Given the description of an element on the screen output the (x, y) to click on. 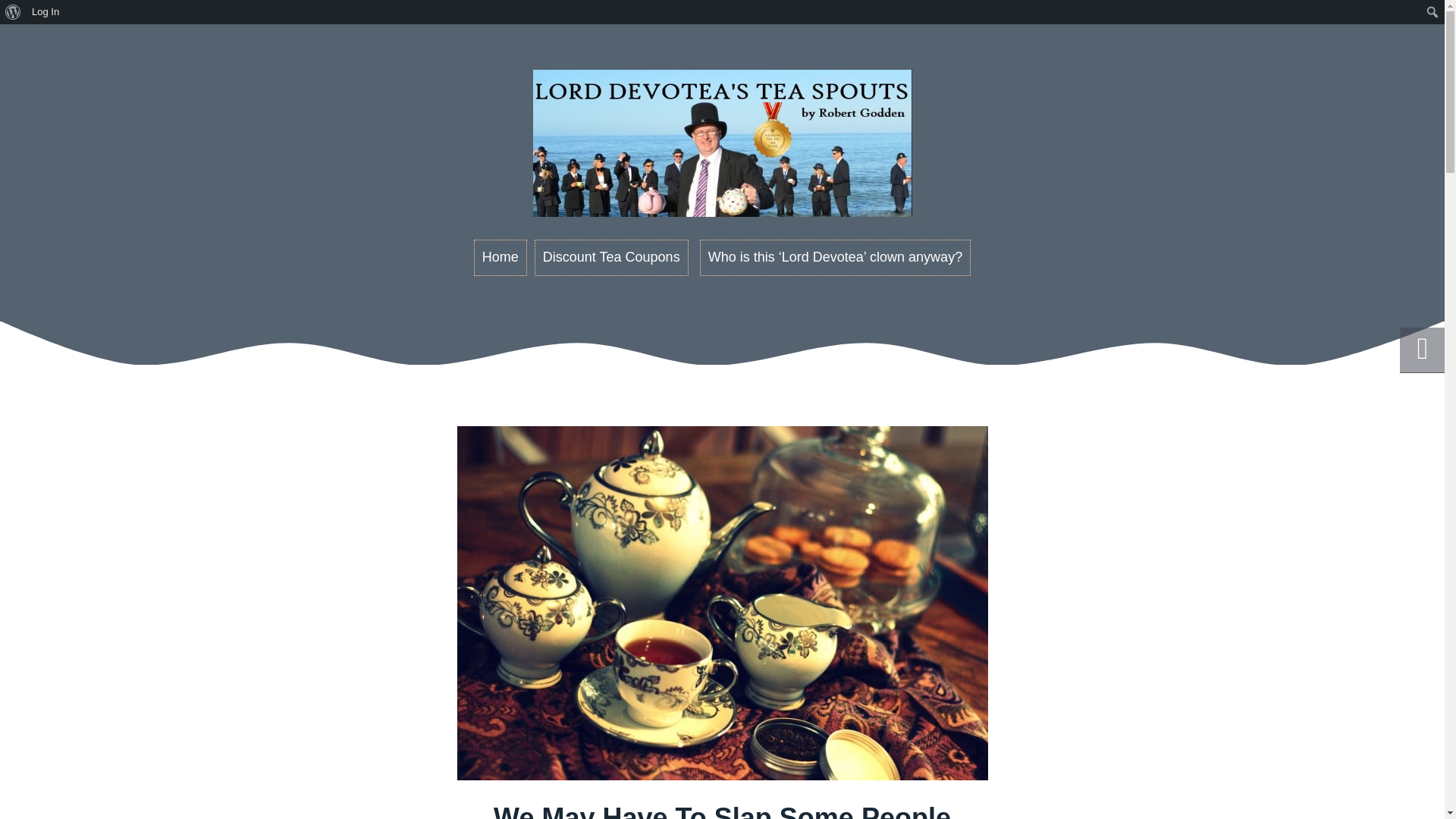
Lord Devotea's Tea Spouts (721, 153)
Search (40, 22)
Home (499, 257)
Discount Tea Coupons (611, 257)
About WordPress (13, 12)
